Given the description of an element on the screen output the (x, y) to click on. 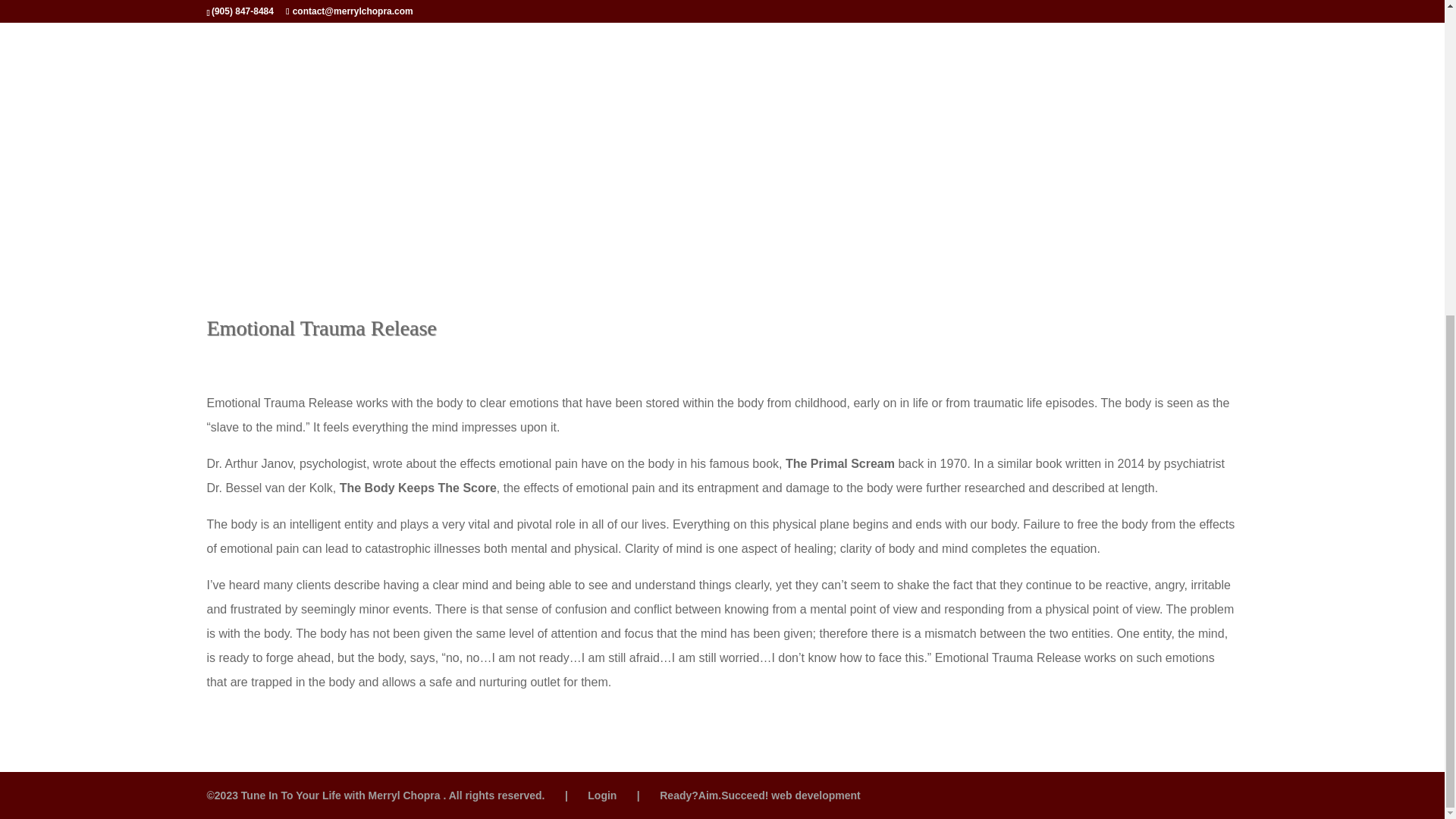
Contact (960, 220)
Login (601, 795)
My Heart Speaks (883, 220)
Offerings (585, 220)
Book a Session (789, 220)
Ready?Aim.Succeed! web development (759, 795)
